Given the description of an element on the screen output the (x, y) to click on. 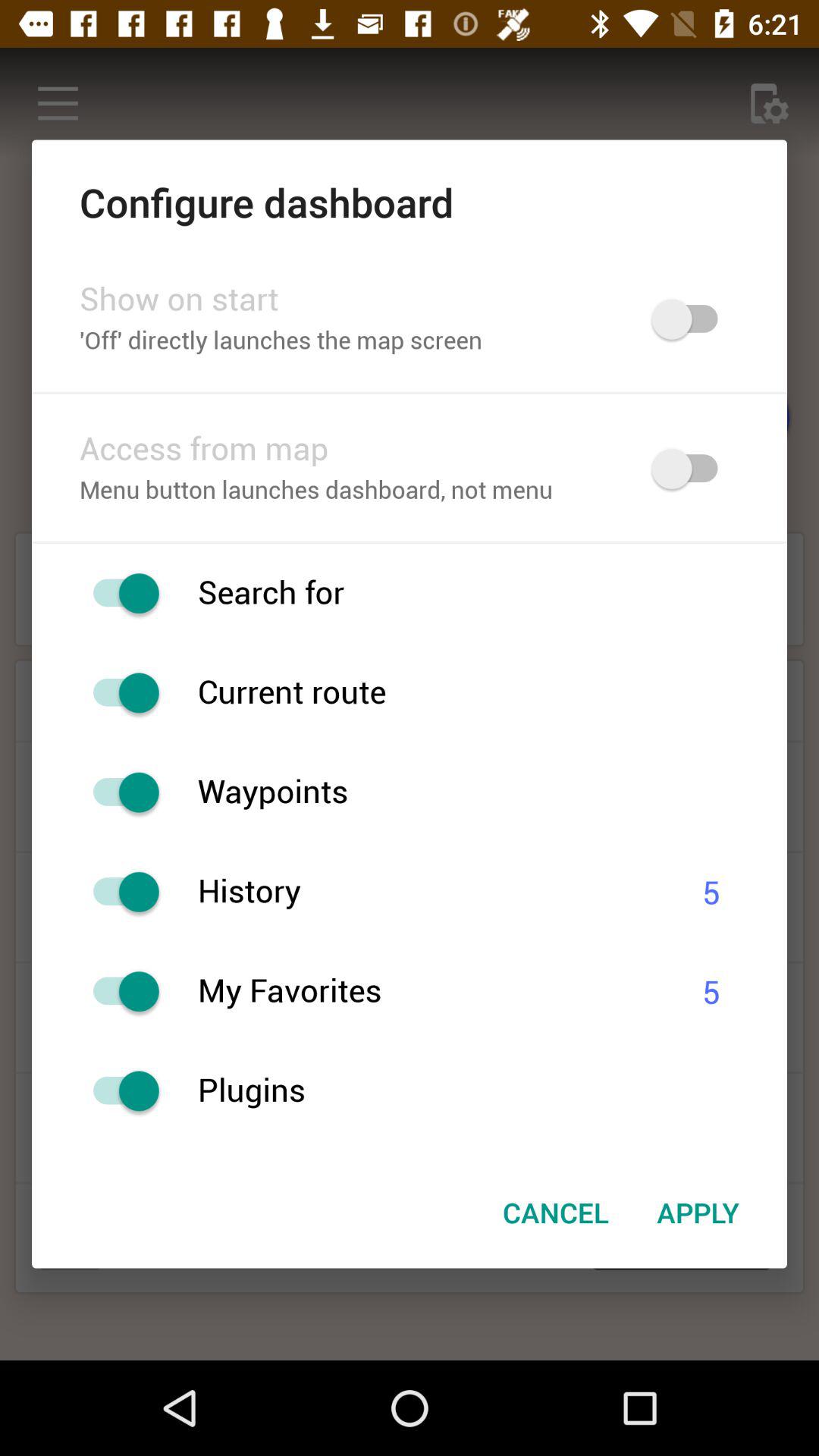
jump to the menu button launches item (346, 491)
